Given the description of an element on the screen output the (x, y) to click on. 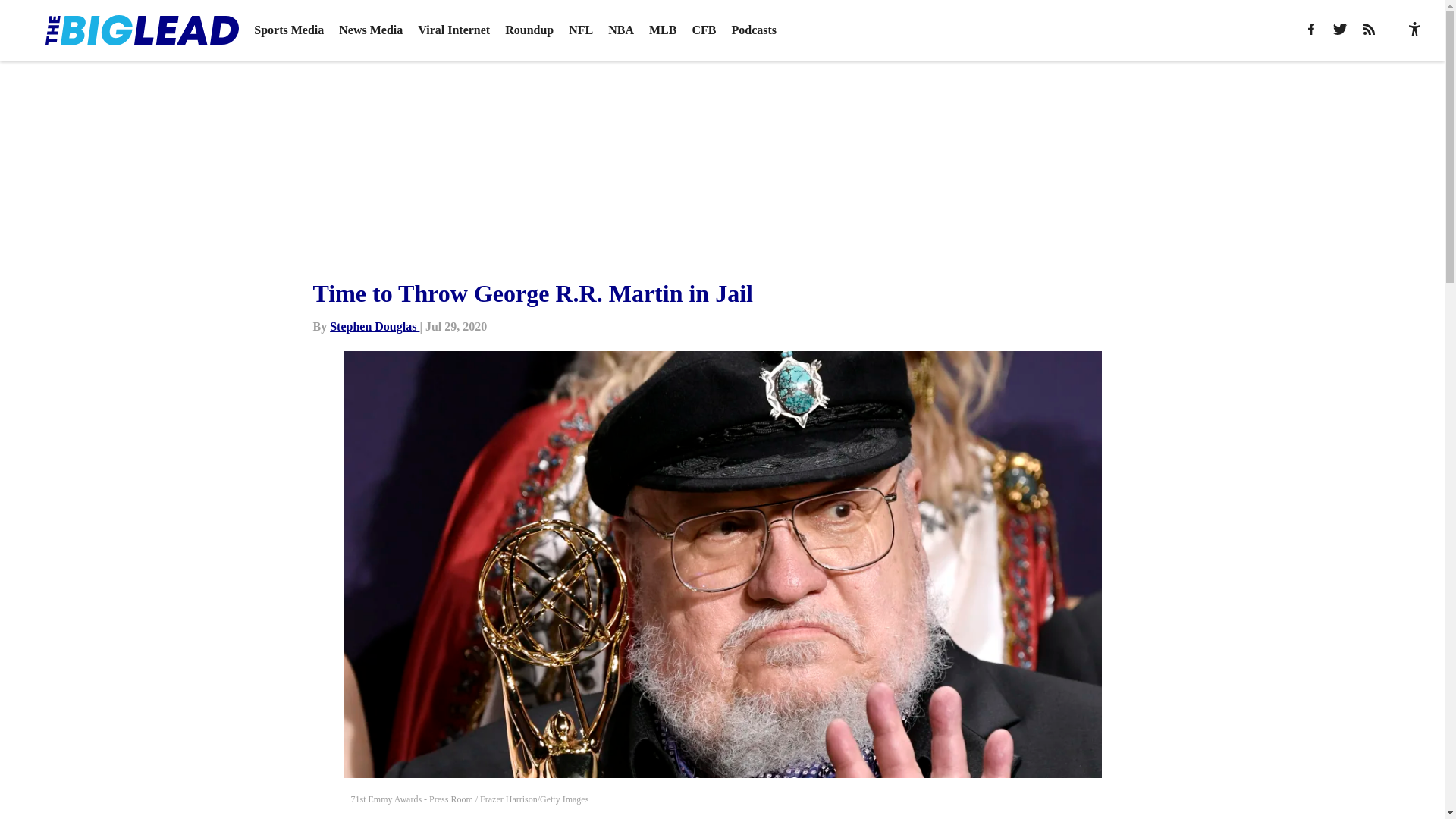
Stephen Douglas (374, 326)
NFL (580, 30)
Sports Media (288, 30)
NBA (620, 30)
CFB (703, 30)
News Media (371, 30)
Roundup (529, 30)
MLB (663, 30)
Viral Internet (453, 30)
